Given the description of an element on the screen output the (x, y) to click on. 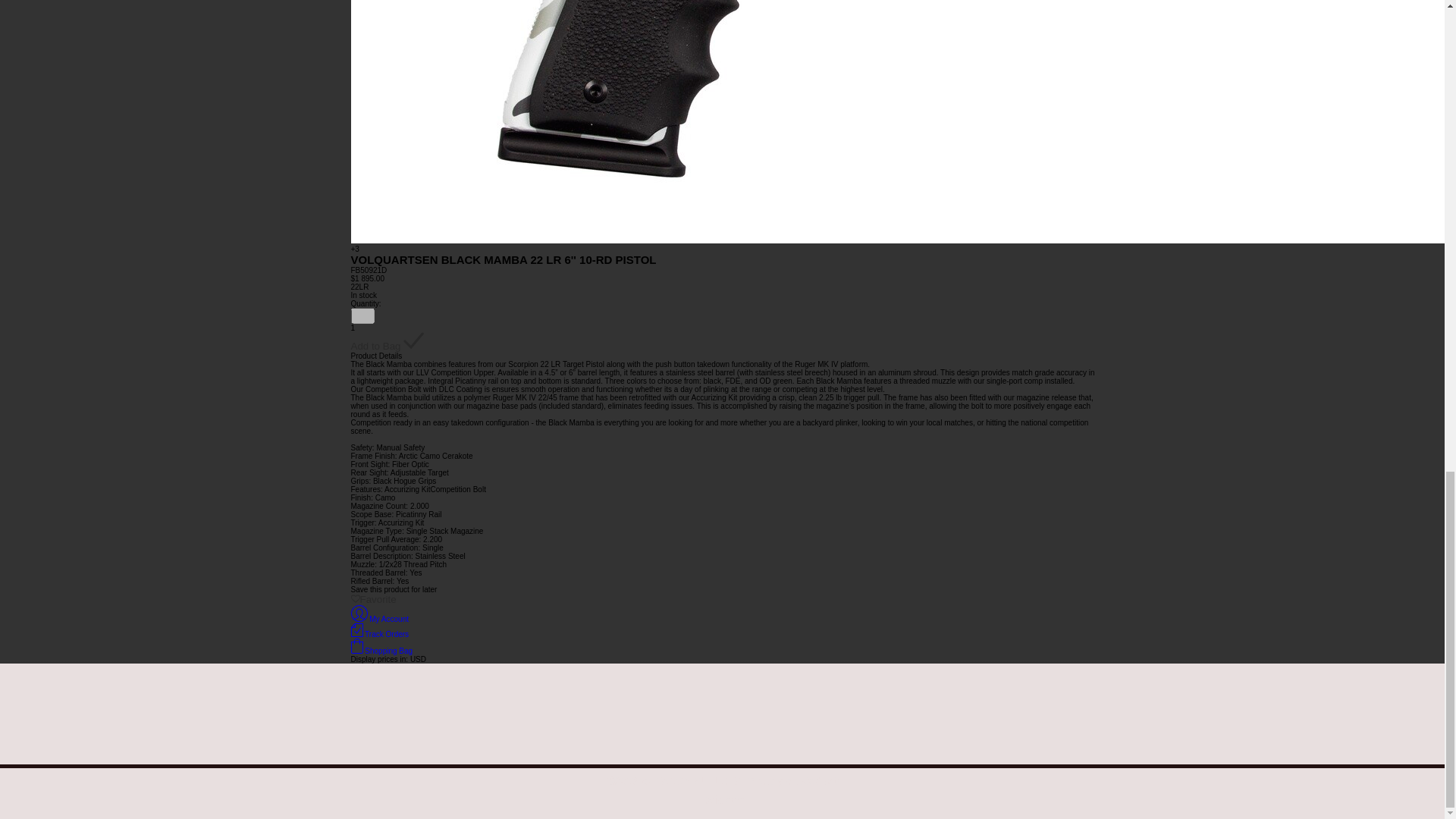
My Account (378, 619)
Favorite (373, 599)
Add to Bag (386, 342)
Shopping Bag (381, 651)
Track Orders (379, 633)
